Given the description of an element on the screen output the (x, y) to click on. 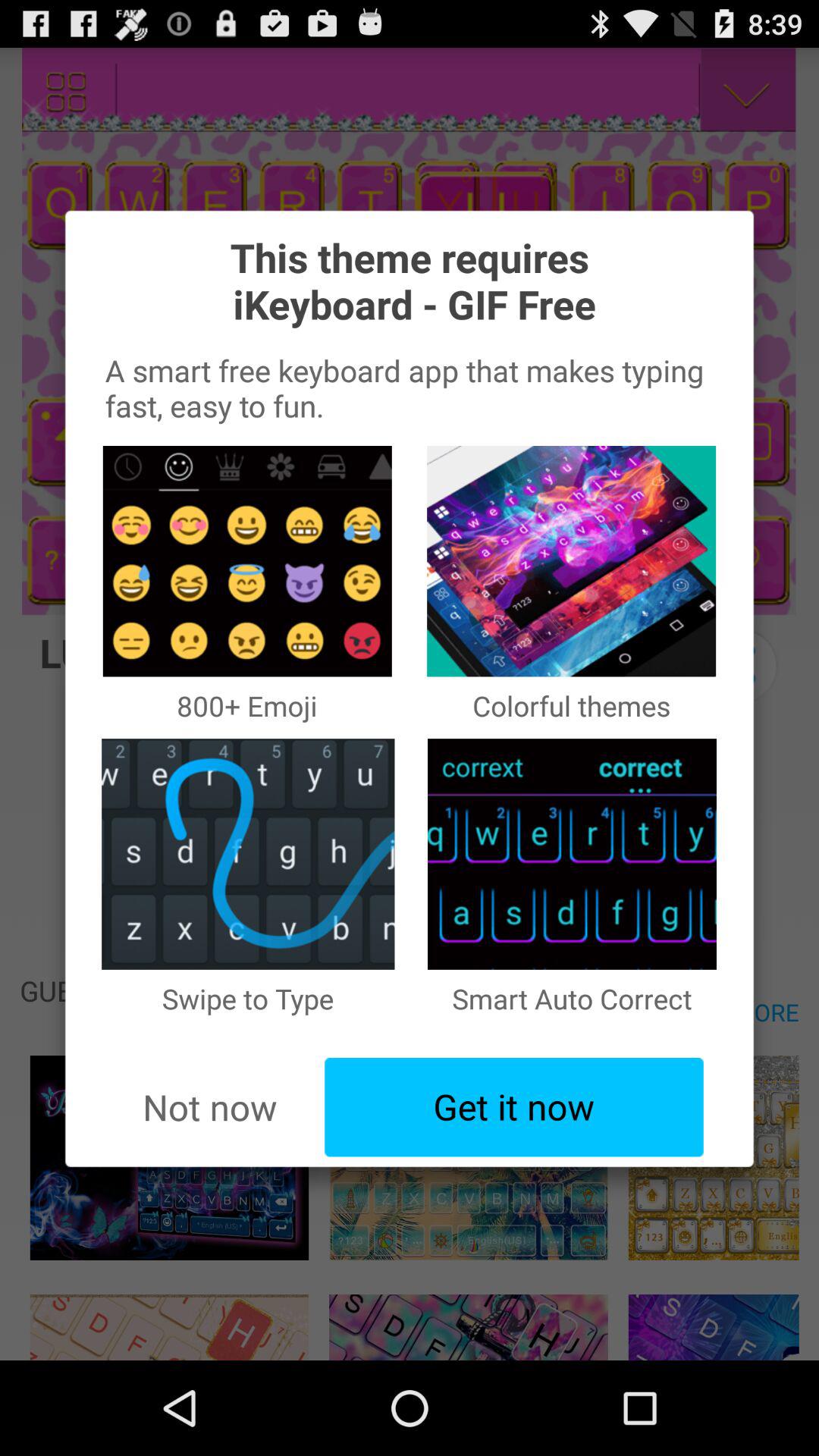
turn on icon at the bottom (513, 1106)
